Given the description of an element on the screen output the (x, y) to click on. 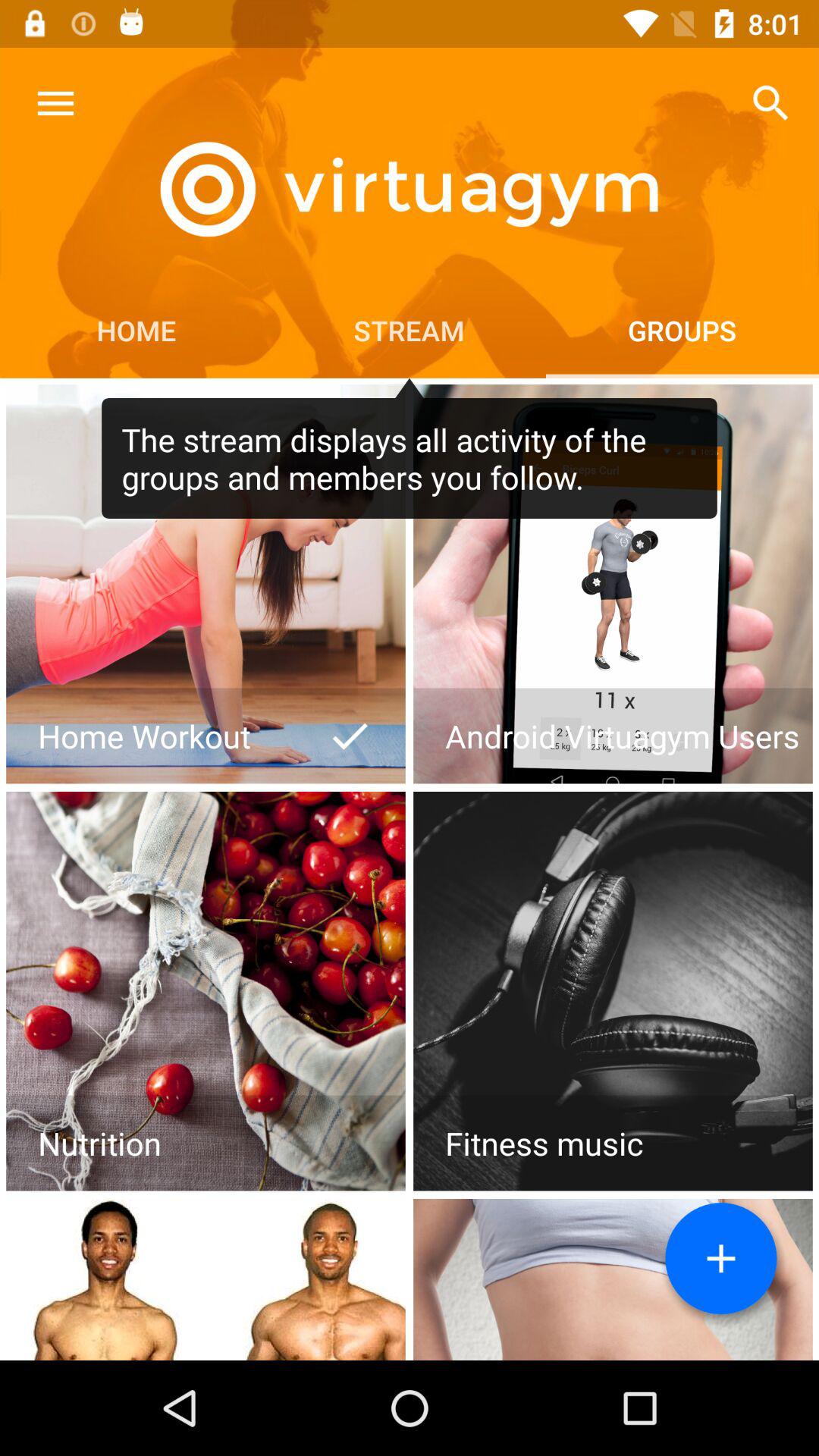
tap the icon above groups item (771, 103)
